Given the description of an element on the screen output the (x, y) to click on. 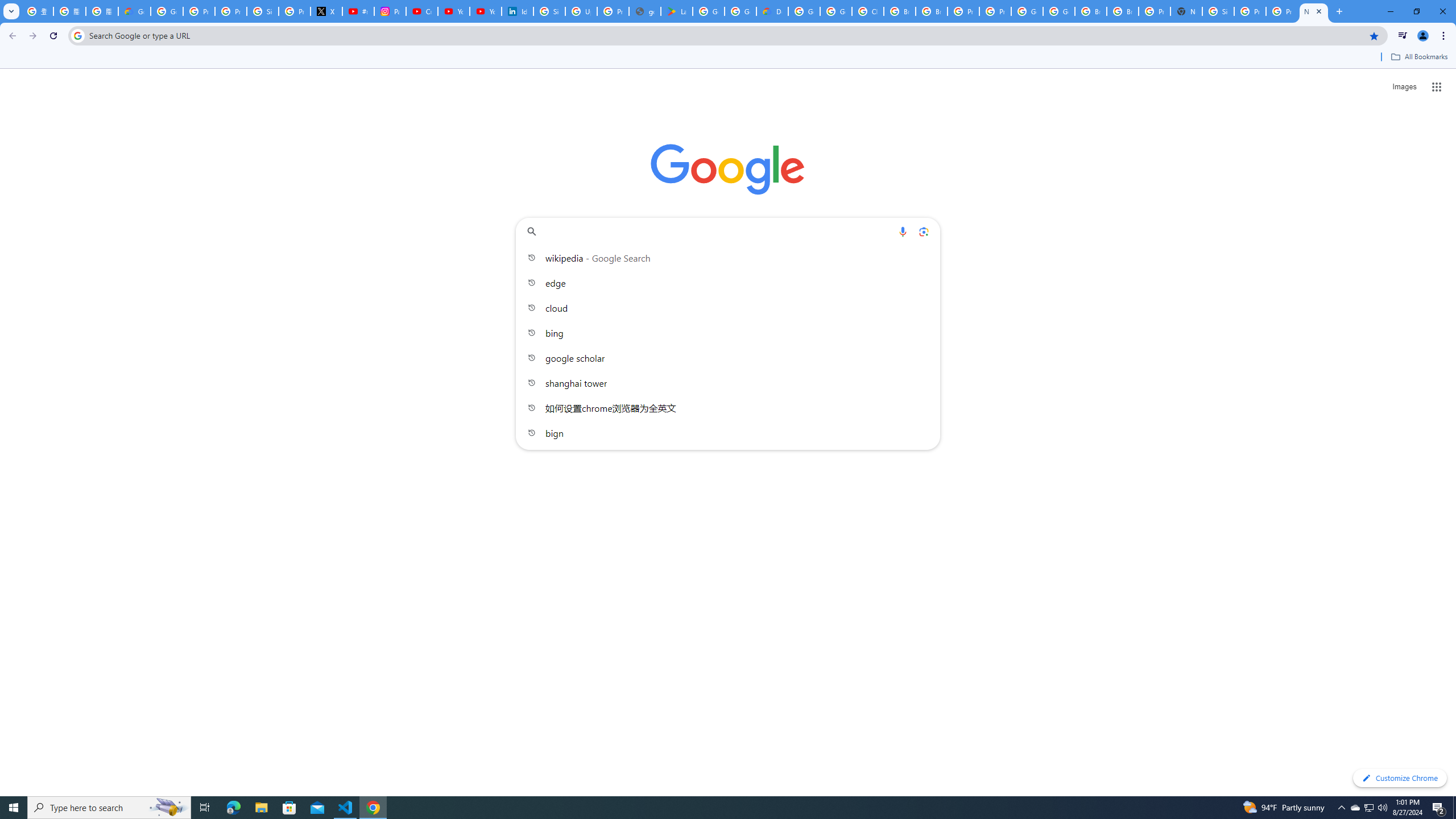
Google Cloud Privacy Notice (134, 11)
Customize Chrome (1399, 778)
Browse Chrome as a guest - Computer - Google Chrome Help (1091, 11)
Google Cloud Platform (804, 11)
